Given the description of an element on the screen output the (x, y) to click on. 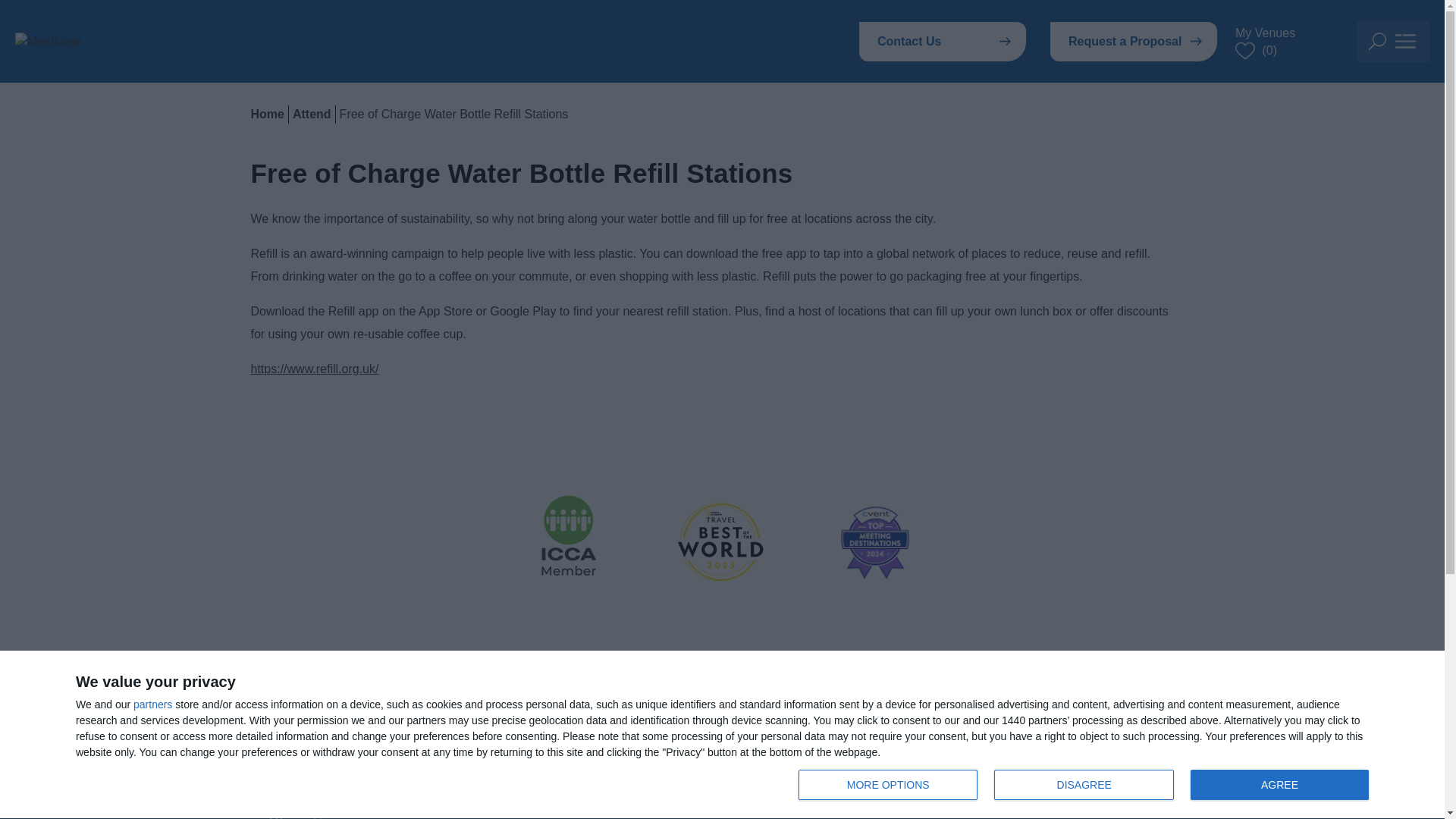
partners (1086, 785)
Visit our twitter page (152, 704)
Request a Proposal (273, 809)
Work With Us (1133, 40)
DISAGREE (618, 808)
Contact Us (1083, 784)
Accessibility Menu (942, 40)
Visit (1422, 792)
AGREE (1033, 809)
MORE OPTIONS (1279, 784)
Privacy Policy (886, 784)
